Given the description of an element on the screen output the (x, y) to click on. 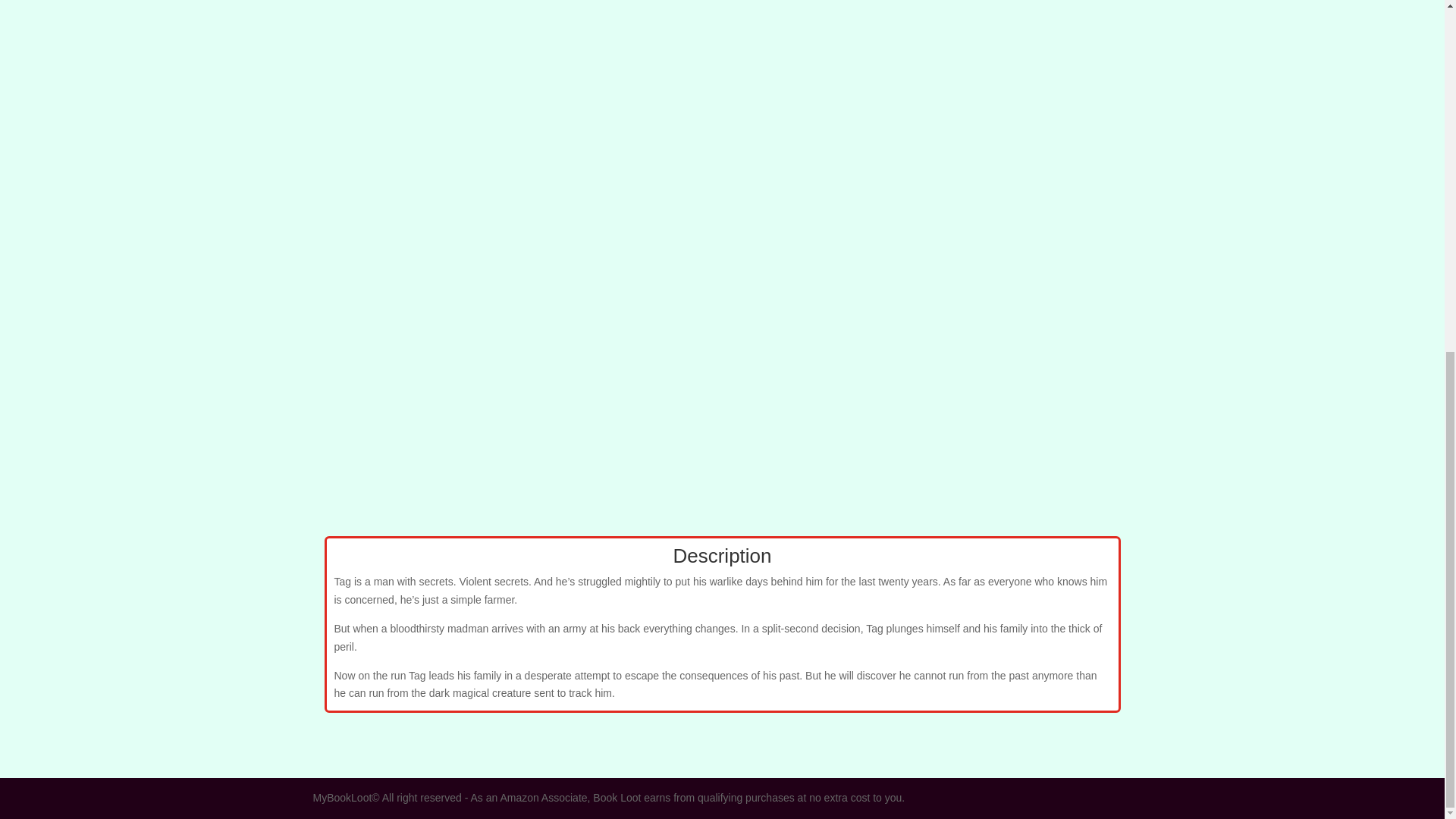
Advertisement (721, 15)
Advertisement (721, 393)
Advertisement (721, 159)
